Given the description of an element on the screen output the (x, y) to click on. 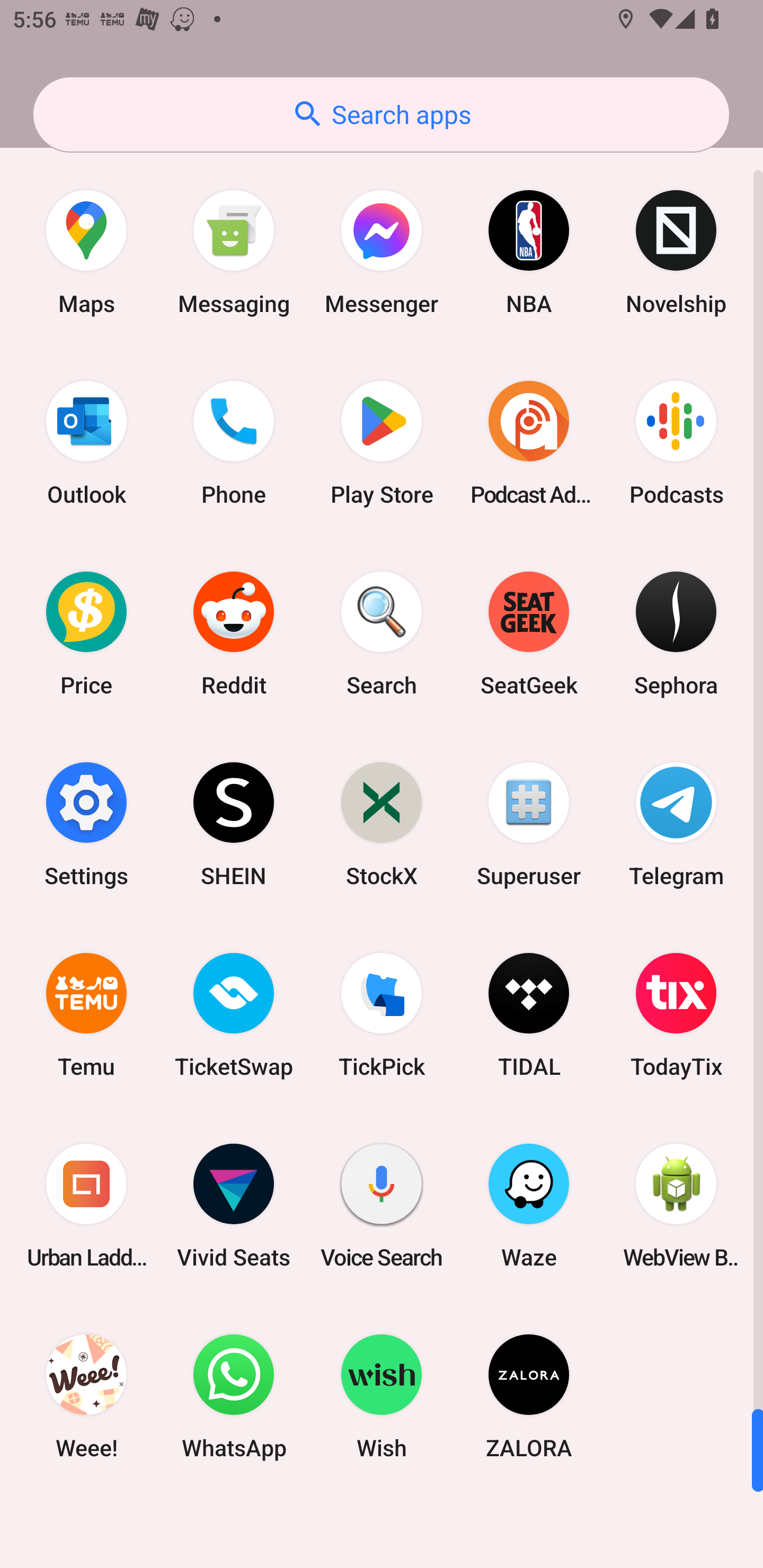
  Search apps (381, 114)
Maps (86, 252)
Messaging (233, 252)
Messenger (381, 252)
NBA (528, 252)
Novelship (676, 252)
Outlook (86, 442)
Phone (233, 442)
Play Store (381, 442)
Podcast Addict (528, 442)
Podcasts (676, 442)
Price (86, 633)
Reddit (233, 633)
Search (381, 633)
SeatGeek (528, 633)
Sephora (676, 633)
Settings (86, 823)
SHEIN (233, 823)
StockX (381, 823)
Superuser (528, 823)
Telegram (676, 823)
Temu (86, 1014)
TicketSwap (233, 1014)
TickPick (381, 1014)
TIDAL (528, 1014)
TodayTix (676, 1014)
Urban Ladder (86, 1205)
Vivid Seats (233, 1205)
Voice Search (381, 1205)
Waze (528, 1205)
WebView Browser Tester (676, 1205)
Weee! (86, 1396)
WhatsApp (233, 1396)
Wish (381, 1396)
ZALORA (528, 1396)
